Given the description of an element on the screen output the (x, y) to click on. 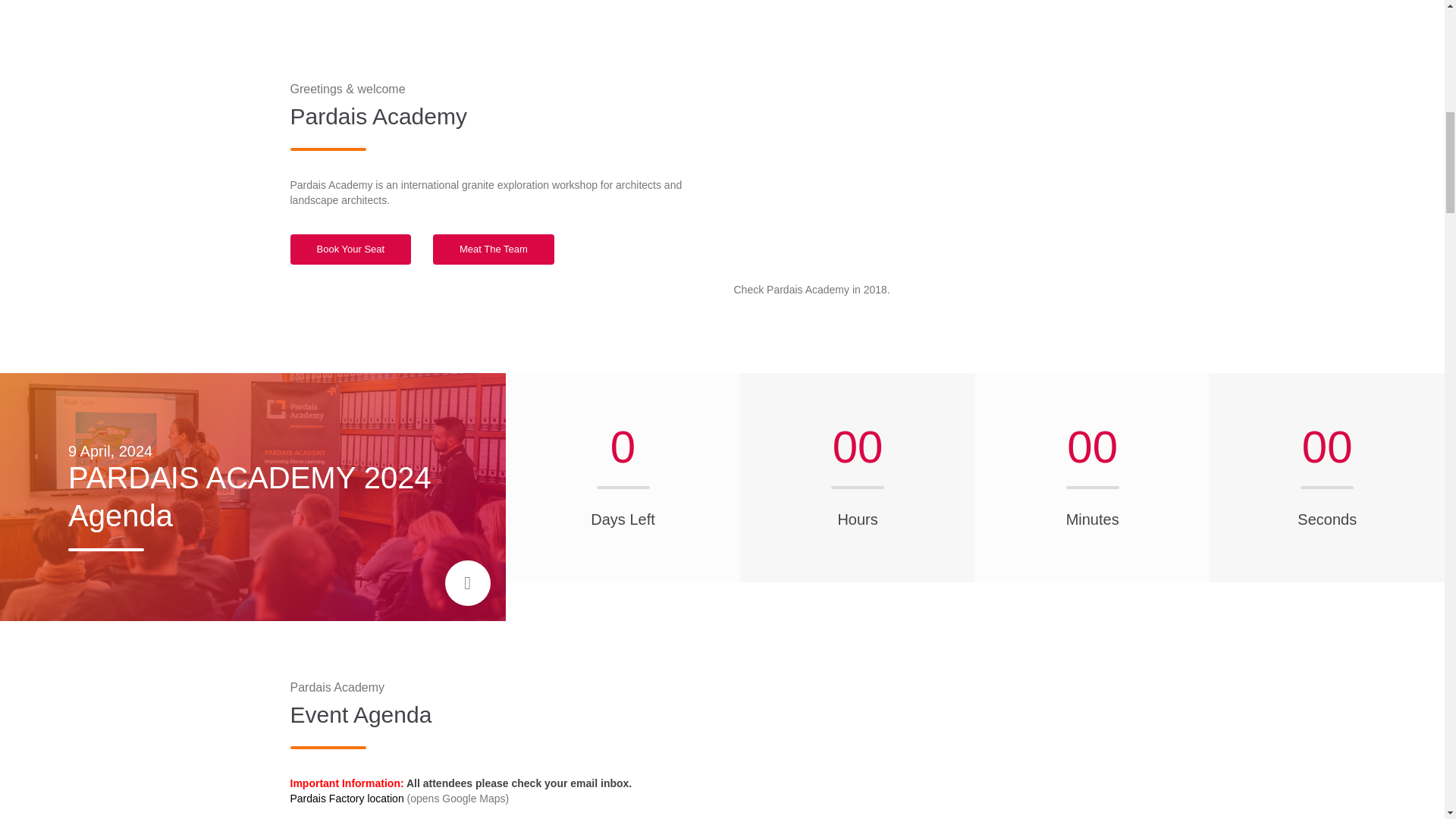
Pardais Factory location (346, 798)
Book Your Seat (349, 249)
Meat The Team (493, 249)
